Given the description of an element on the screen output the (x, y) to click on. 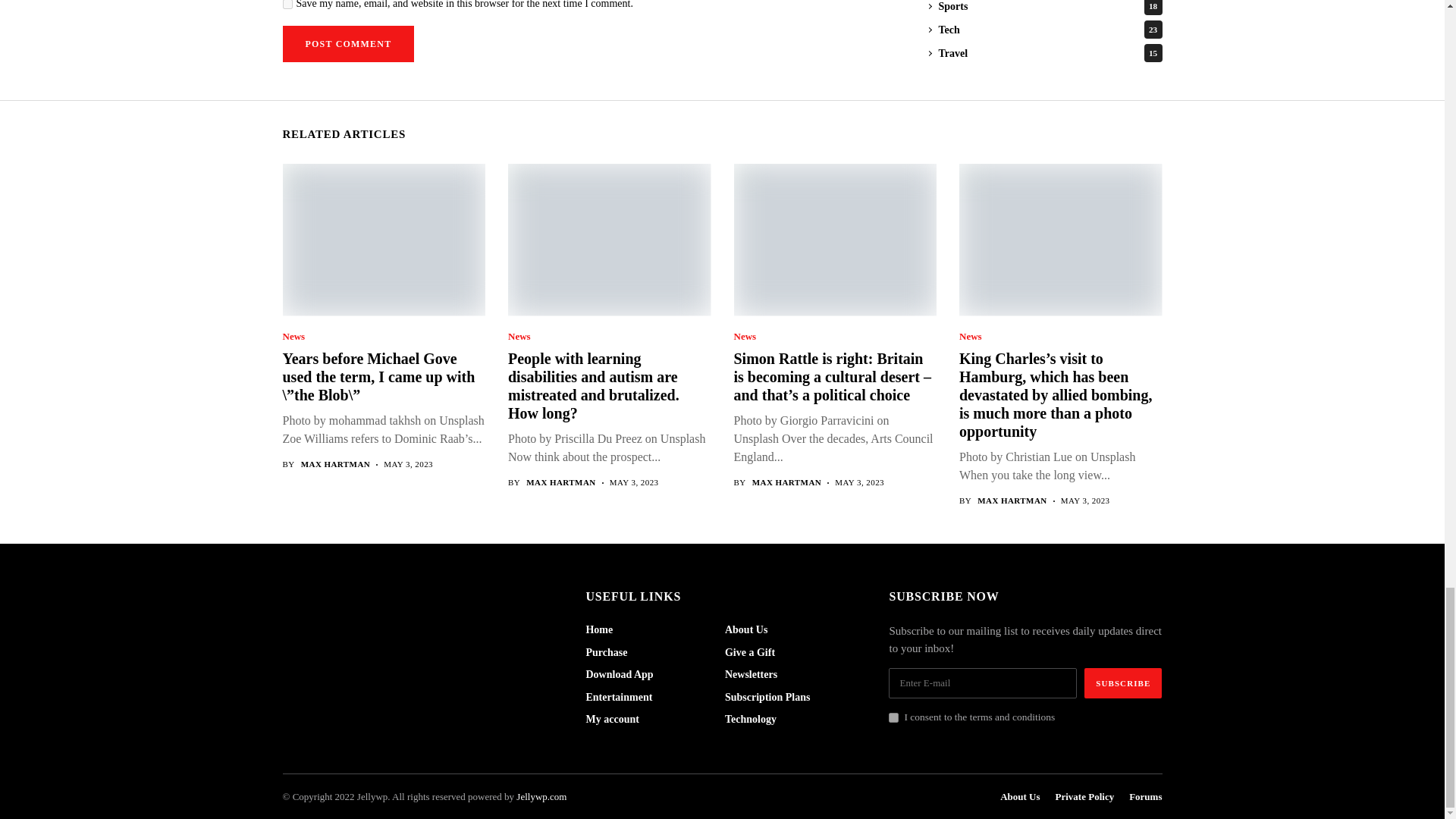
Post Comment (347, 43)
Subscribe (1122, 683)
Posts by Max Hartman (336, 464)
Posts by Max Hartman (1011, 501)
Posts by Max Hartman (787, 482)
yes (287, 4)
1 (893, 717)
